Given the description of an element on the screen output the (x, y) to click on. 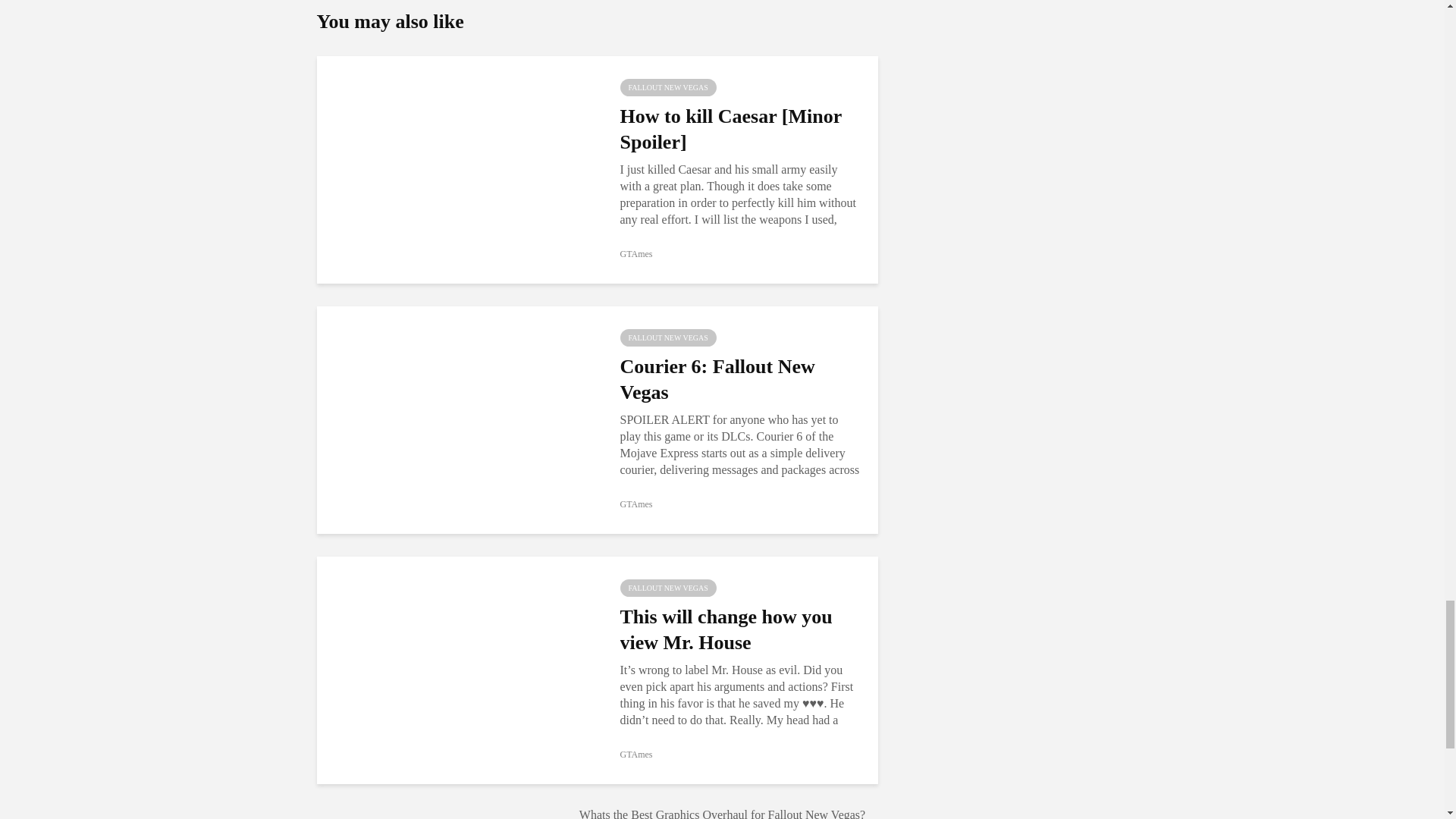
GTAmes (636, 253)
FALLOUT NEW VEGAS (668, 87)
Courier 6: Fallout New Vegas (456, 418)
Courier 6: Fallout New Vegas (740, 379)
This will change how you view Mr. House (456, 668)
GTAmes (636, 503)
FALLOUT NEW VEGAS (668, 337)
